Given the description of an element on the screen output the (x, y) to click on. 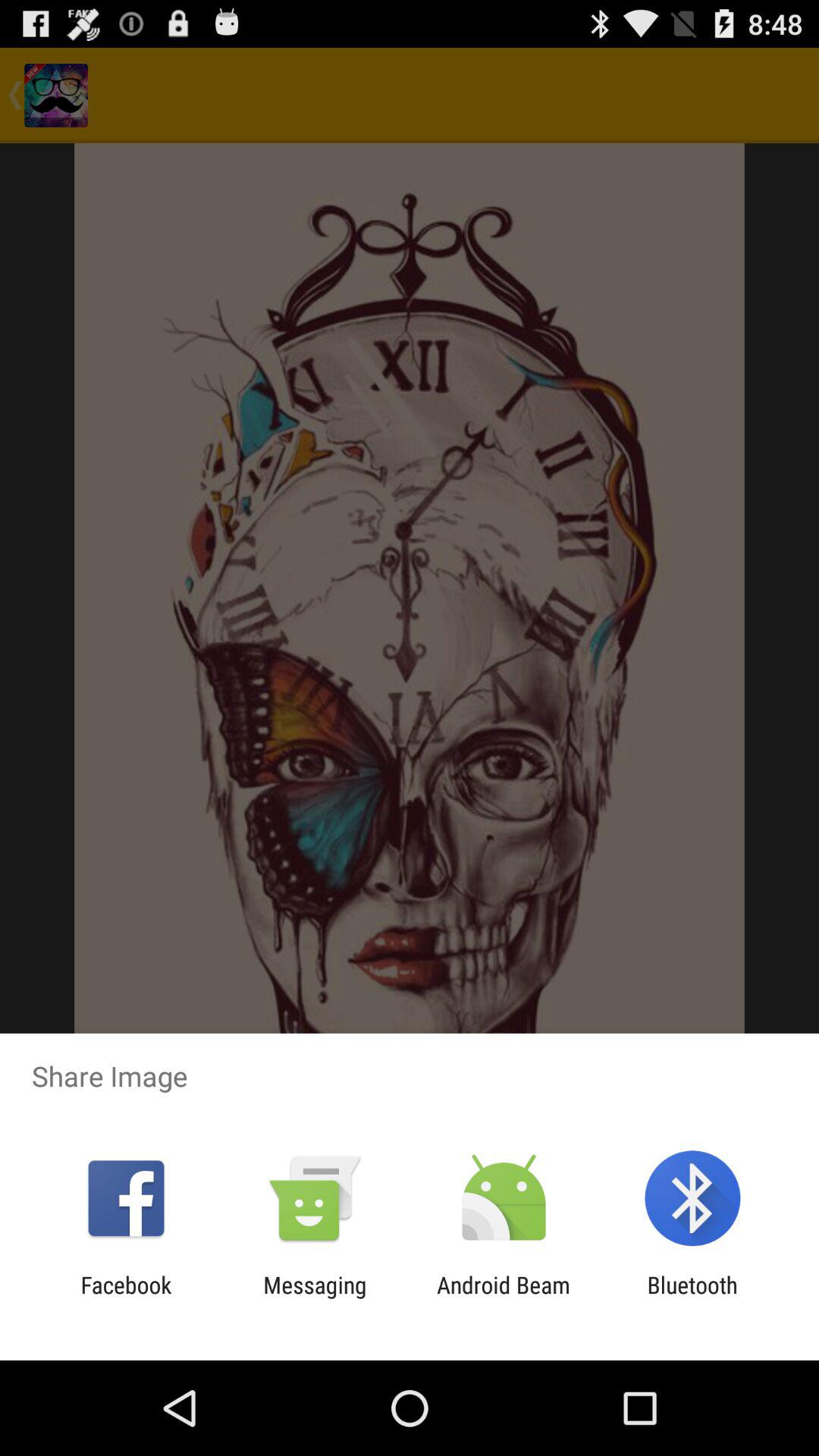
swipe to the android beam icon (503, 1298)
